Given the description of an element on the screen output the (x, y) to click on. 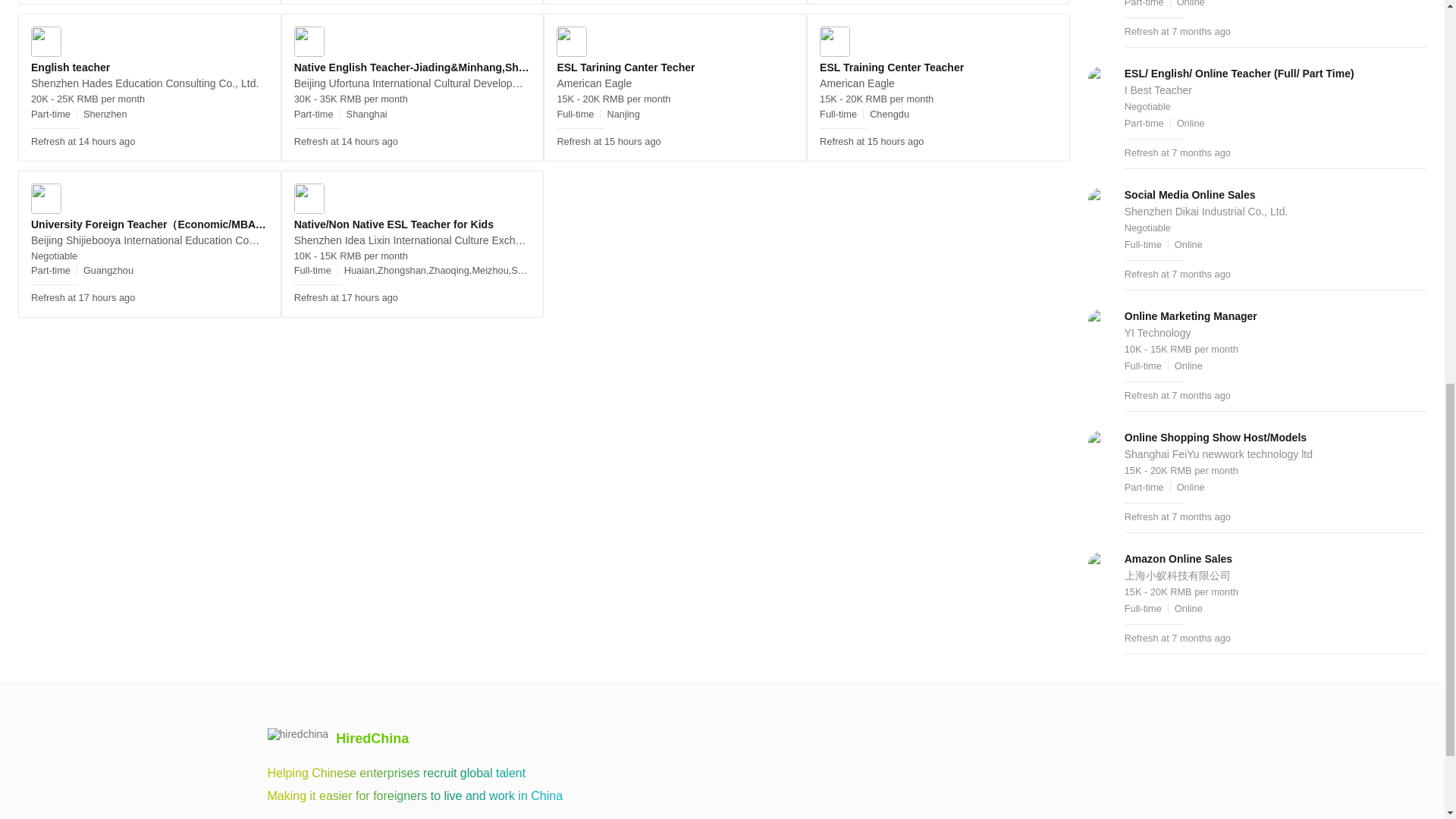
hiredchina (338, 739)
